Given the description of an element on the screen output the (x, y) to click on. 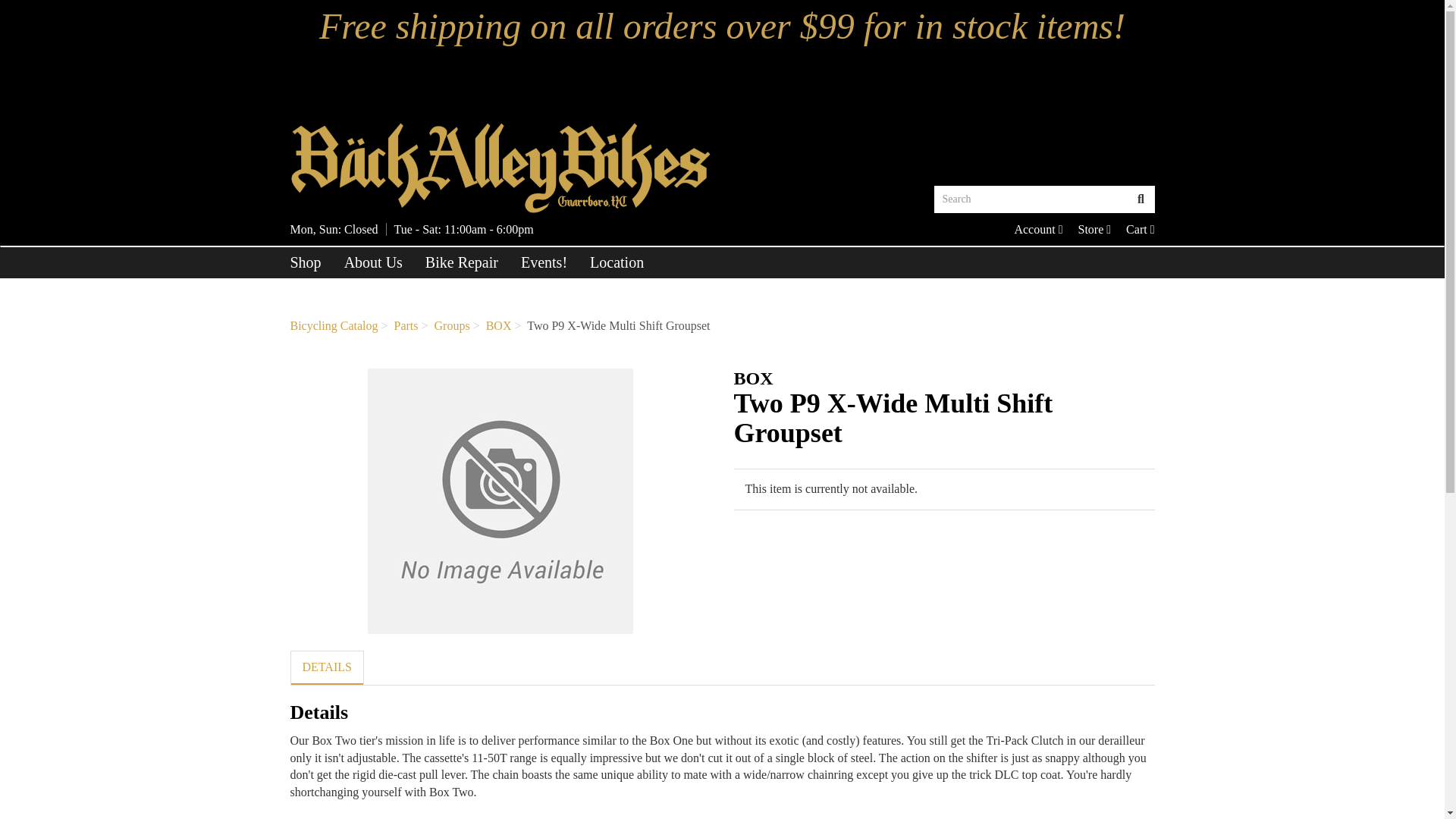
Search (1037, 228)
Store (1031, 198)
Cart (1093, 228)
Account (1139, 228)
Search (1037, 228)
Shop (1140, 198)
Back Alley Bikes Home Page (306, 262)
